Given the description of an element on the screen output the (x, y) to click on. 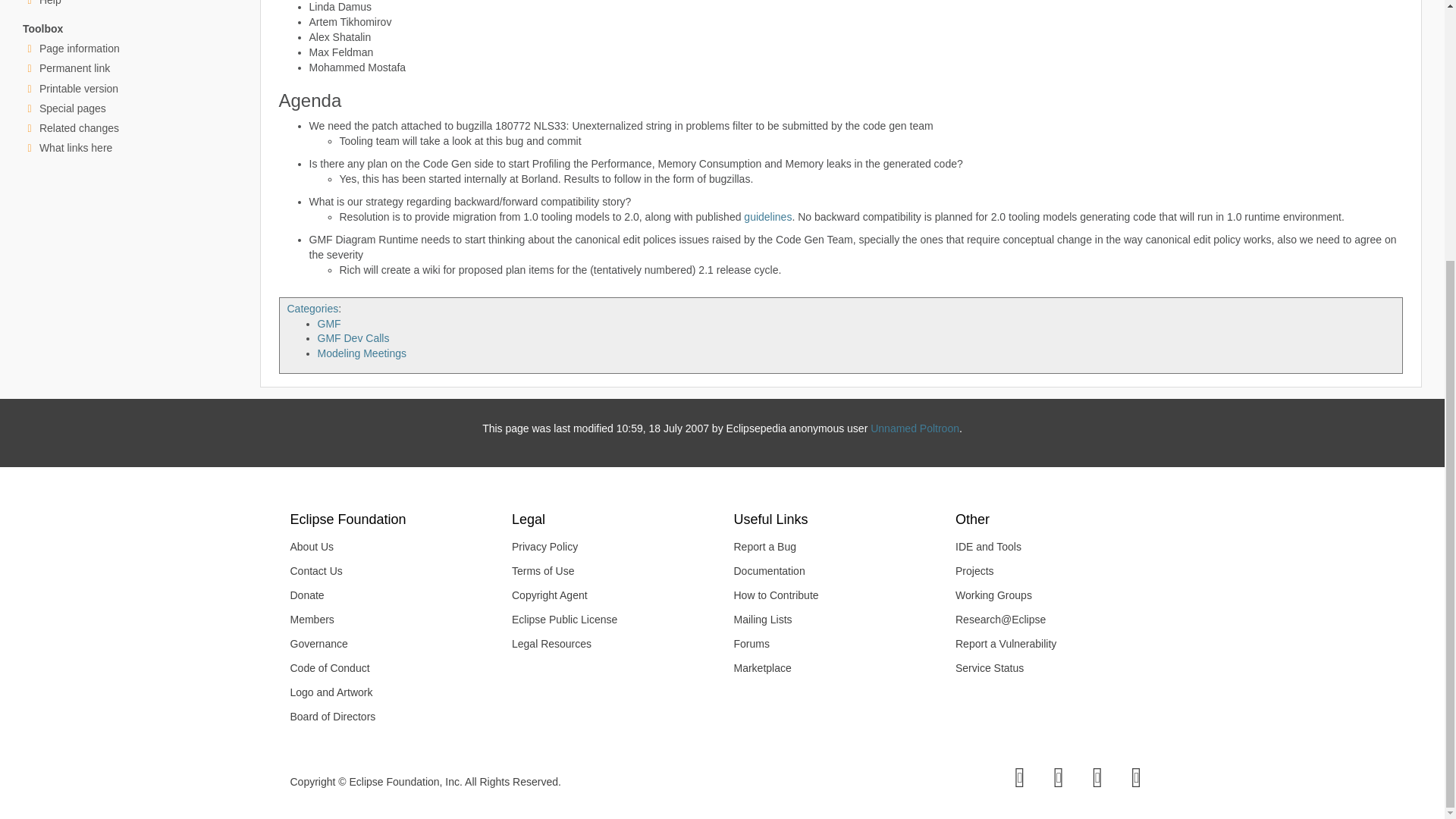
Permanent link to this revision of the page (74, 68)
The place to find out (50, 2)
More information about this page (79, 48)
